Given the description of an element on the screen output the (x, y) to click on. 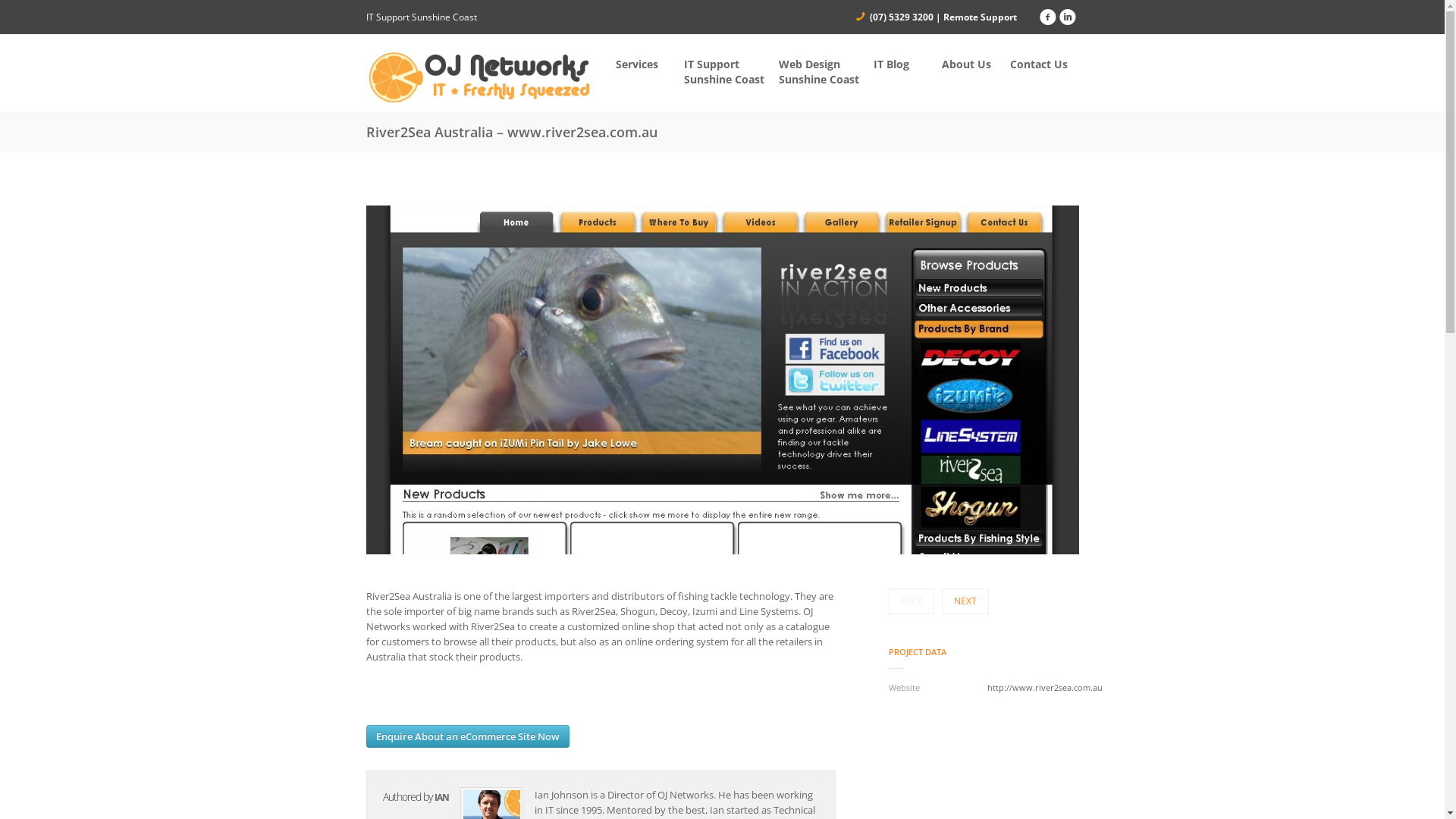
IT Support Sunshine Coast Element type: text (731, 73)
Web Design Sunshine Coast Element type: text (825, 73)
Remote Support Element type: text (979, 16)
Contact Us Element type: text (1044, 65)
(07) 5329 3200 | Element type: text (905, 16)
PREV Element type: text (911, 601)
NEXT Element type: text (964, 601)
Services Element type: text (649, 65)
About Us Element type: text (975, 65)
IAN Element type: text (440, 796)
Enquire About an eCommerce Site Now Element type: text (466, 735)
IT Blog Element type: text (907, 65)
Home Element type: hover (479, 76)
